Given the description of an element on the screen output the (x, y) to click on. 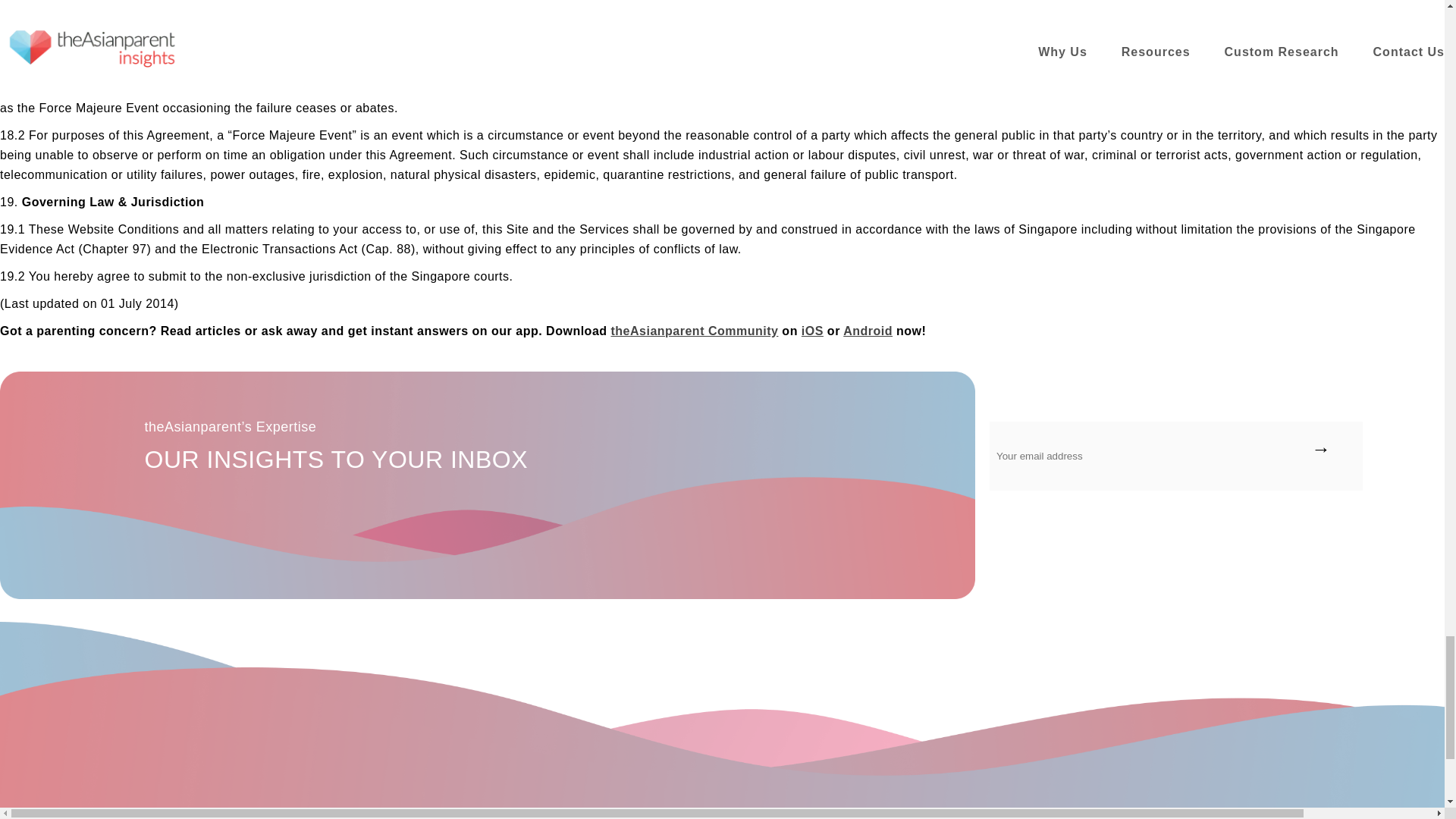
theAsianparent Community (694, 330)
theAsianparent Community (694, 330)
theAsianparent Community (813, 330)
theAsianparent Community (867, 330)
iOS (813, 330)
Android (867, 330)
